Given the description of an element on the screen output the (x, y) to click on. 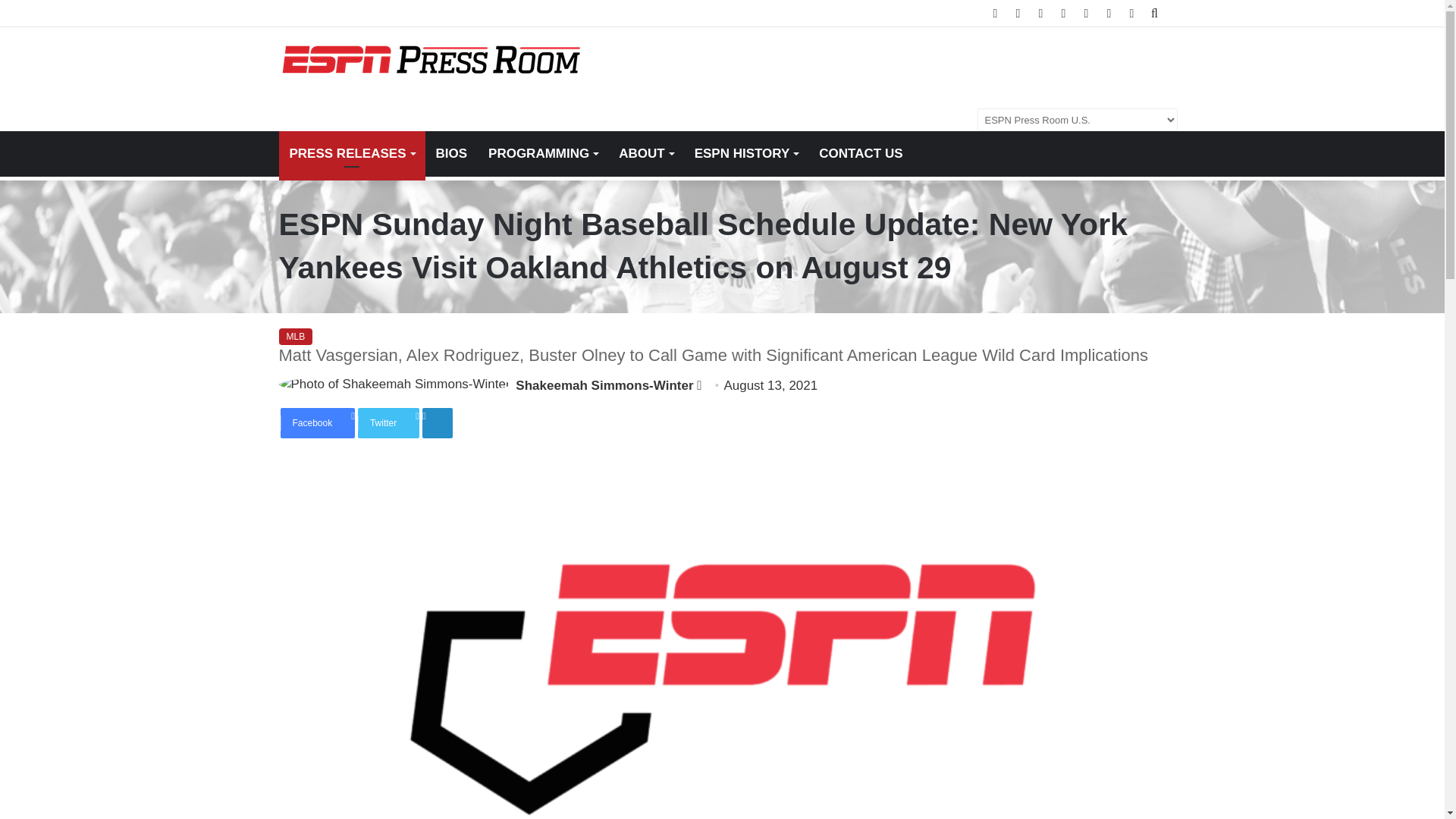
Shakeemah Simmons-Winter (604, 385)
Shakeemah Simmons-Winter (604, 385)
Twitter (388, 422)
LinkedIn (437, 422)
BIOS (451, 153)
Facebook (318, 422)
ESPN Press Room U.S. (430, 59)
PROGRAMMING (542, 153)
ABOUT (645, 153)
MLB (296, 336)
ESPN HISTORY (746, 153)
CONTACT US (860, 153)
PRESS RELEASES (352, 153)
